Given the description of an element on the screen output the (x, y) to click on. 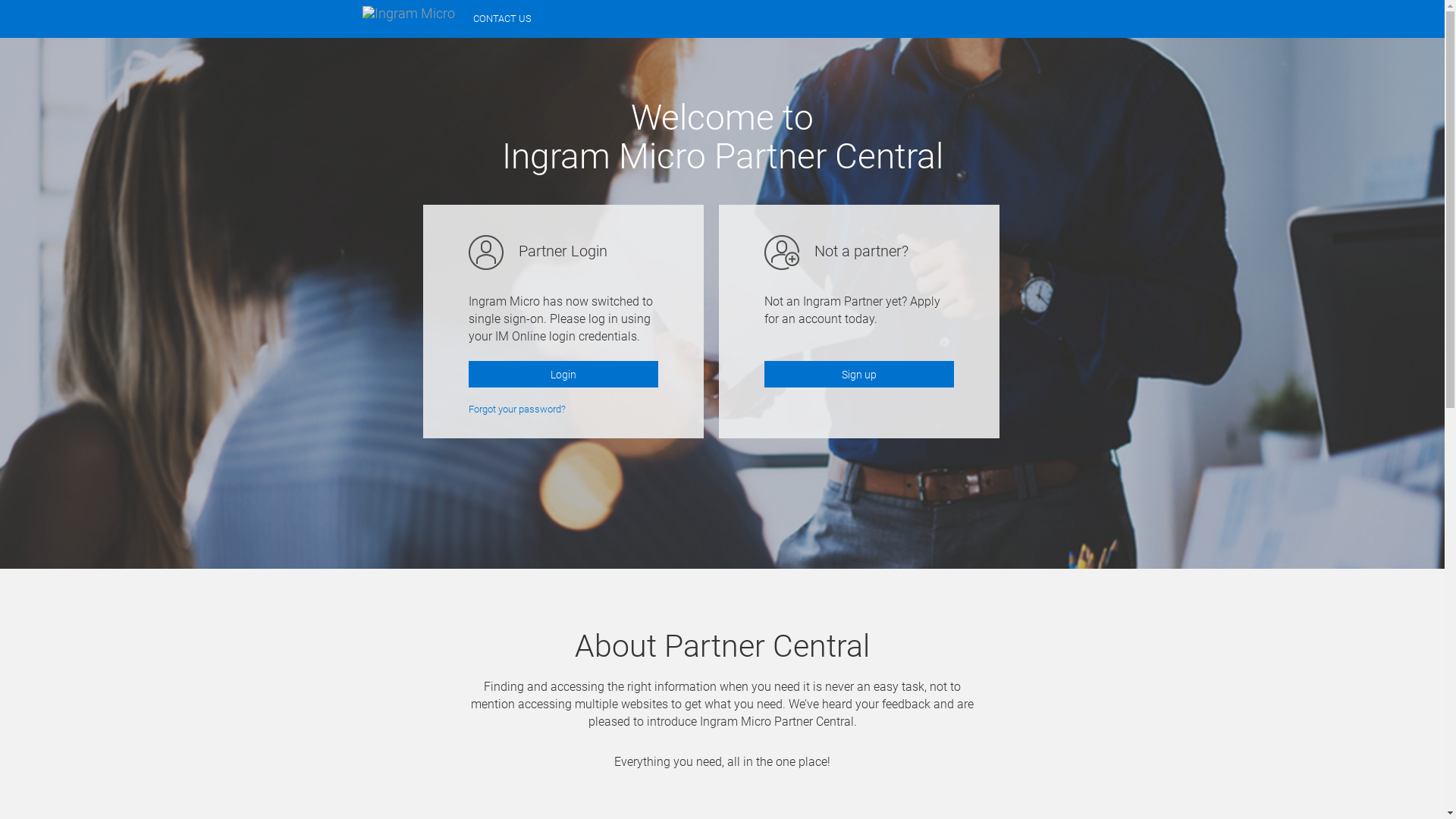
Ingram Micro Element type: hover (408, 13)
Sign up Element type: text (858, 373)
CONTACT US Element type: text (501, 18)
Login Element type: text (563, 373)
login Element type: hover (722, 302)
Forgot your password? Element type: text (516, 408)
